Given the description of an element on the screen output the (x, y) to click on. 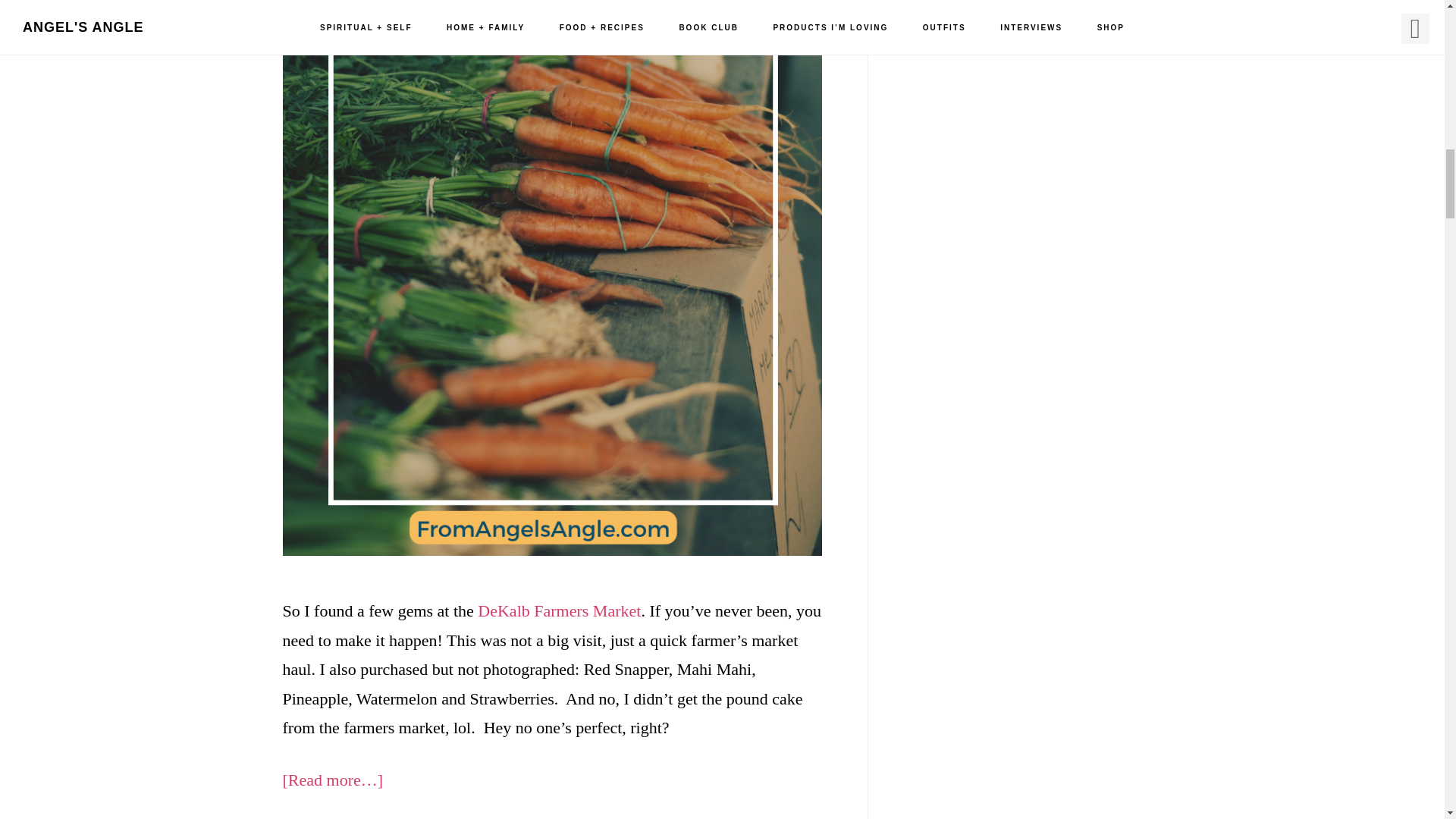
DeKalb Farmers Market (558, 610)
